Given the description of an element on the screen output the (x, y) to click on. 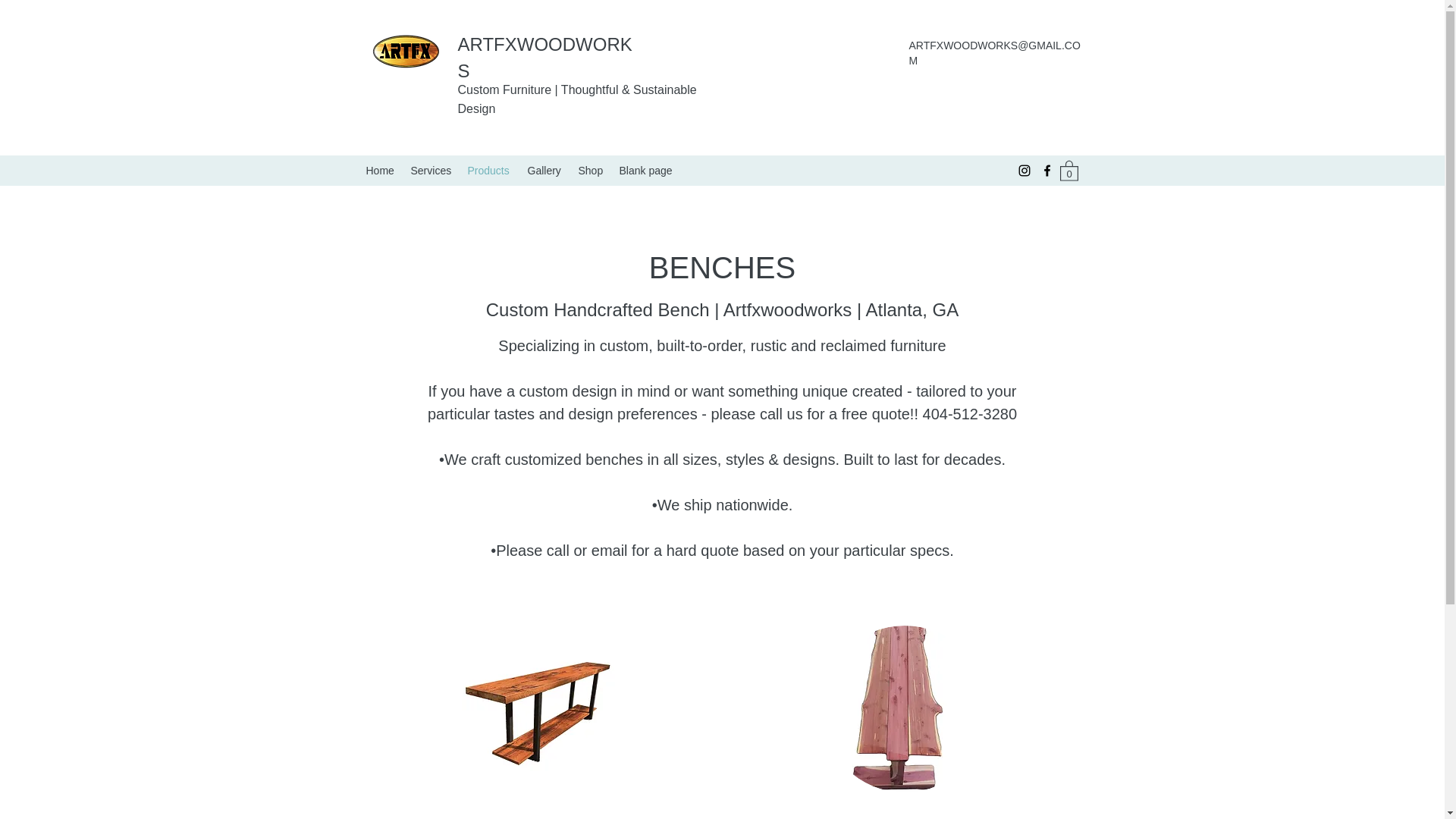
Blank page (646, 169)
Services (431, 169)
Shop (590, 169)
Products (489, 169)
Home (380, 169)
Gallery (544, 169)
